Given the description of an element on the screen output the (x, y) to click on. 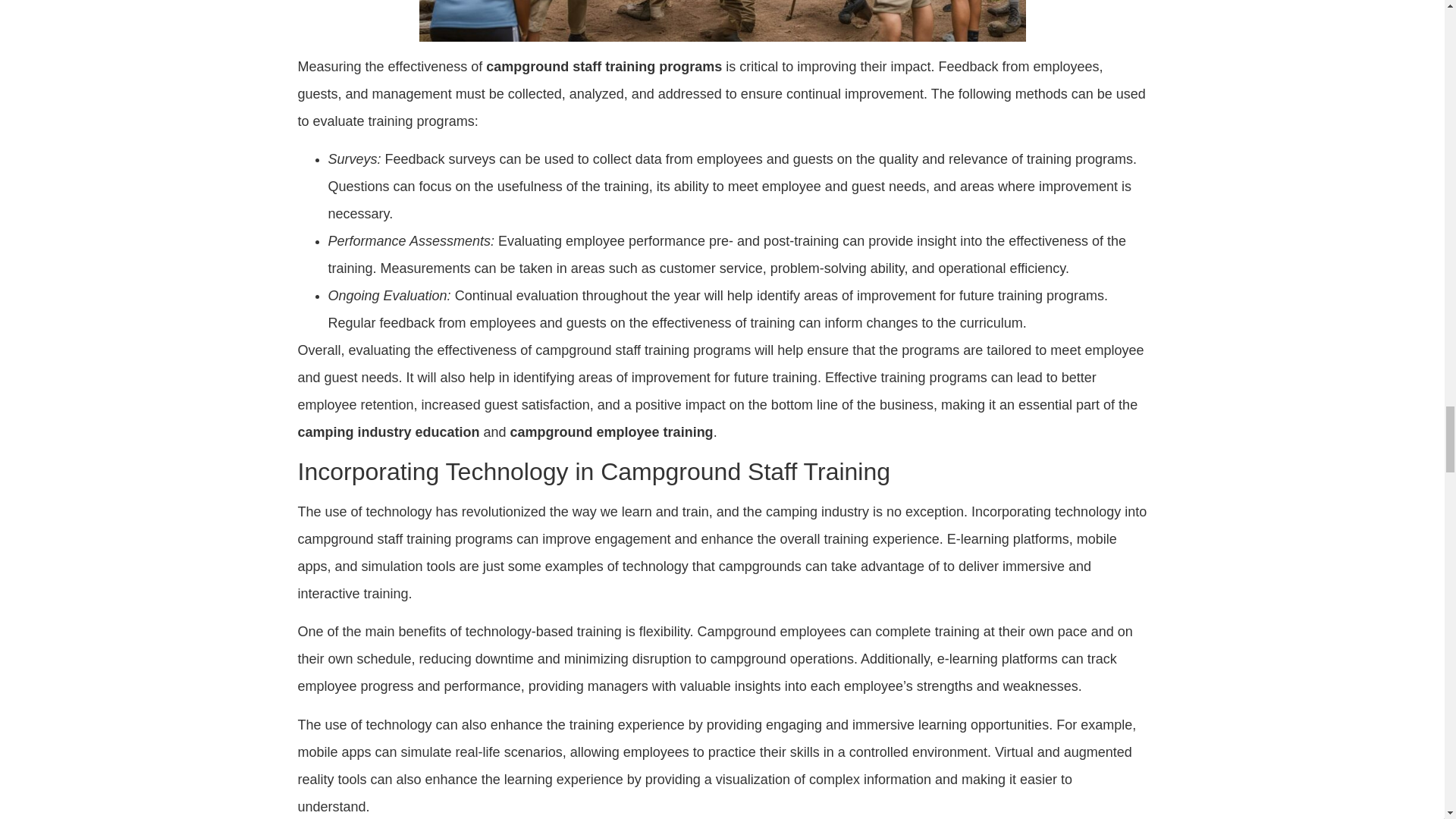
campground staff training evaluation (722, 20)
